Given the description of an element on the screen output the (x, y) to click on. 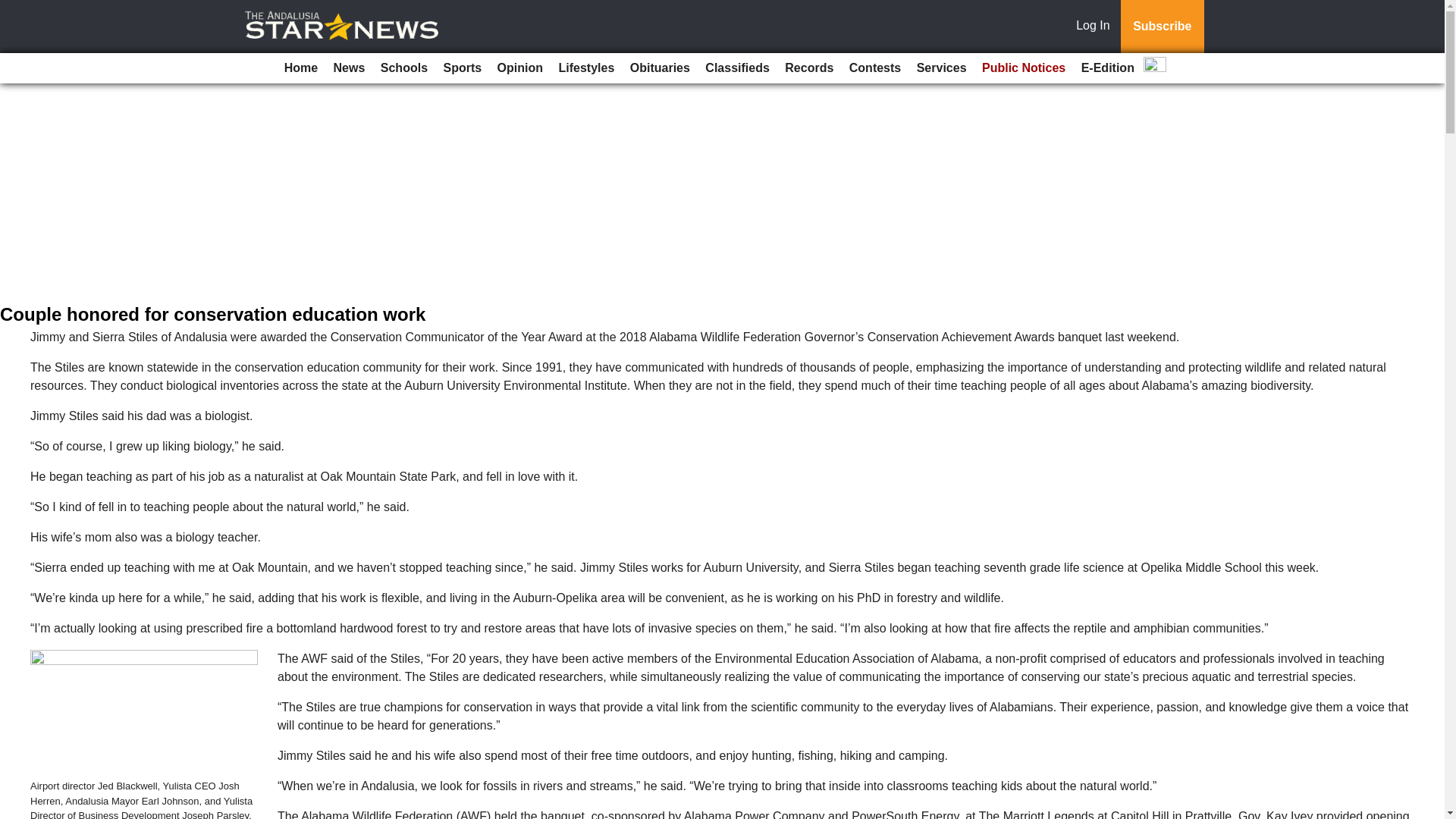
Log In (1095, 26)
Subscribe (1162, 26)
Obituaries (659, 68)
E-Edition (1107, 68)
Sports (461, 68)
Contests (875, 68)
Go (13, 9)
Services (941, 68)
News (349, 68)
Records (809, 68)
